Given the description of an element on the screen output the (x, y) to click on. 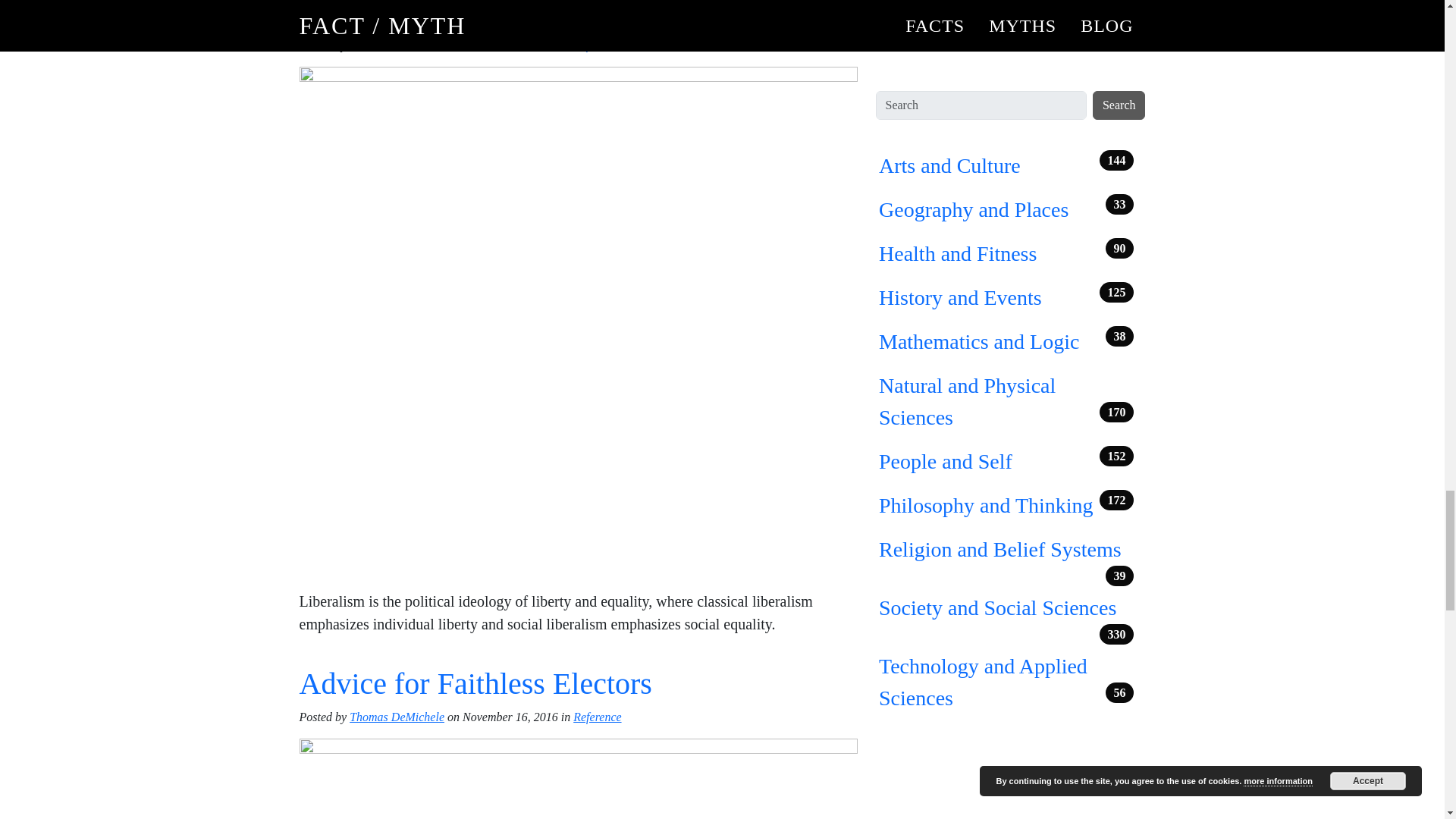
Reference (597, 716)
What is Liberalism? (421, 14)
Posts by Thomas DeMichele (396, 44)
Thomas DeMichele (396, 44)
Posts by Thomas DeMichele (396, 716)
Advice for Faithless Electors (474, 683)
Reference (597, 44)
Thomas DeMichele (396, 716)
